Given the description of an element on the screen output the (x, y) to click on. 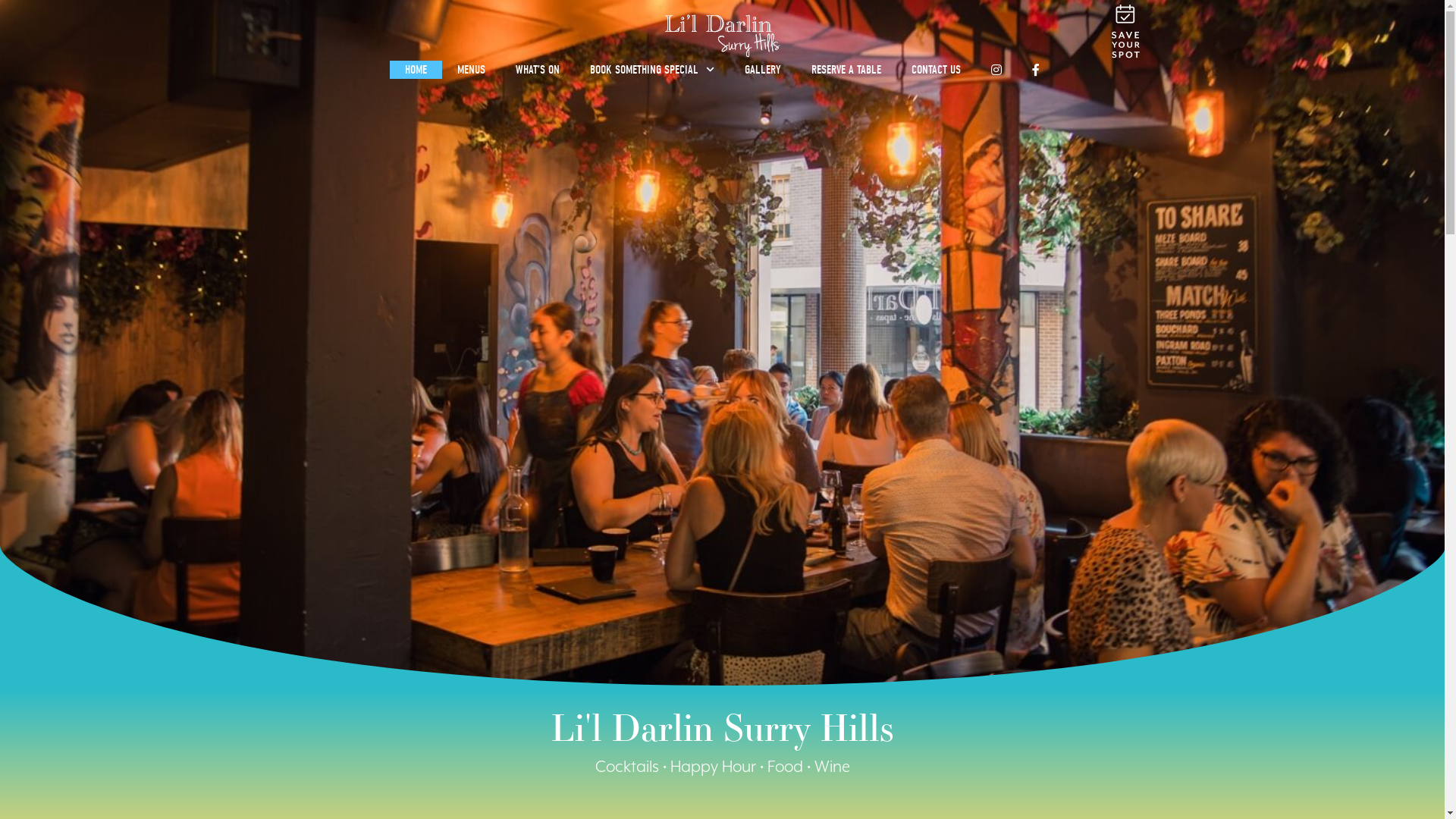
MENUS Element type: text (471, 69)
BOOK SOMETHING SPECIAL Element type: text (651, 69)
HOME Element type: text (415, 69)
CONTACT US Element type: text (935, 69)
RESERVE A TABLE Element type: text (846, 69)
GALLERY Element type: text (762, 69)
